Given the description of an element on the screen output the (x, y) to click on. 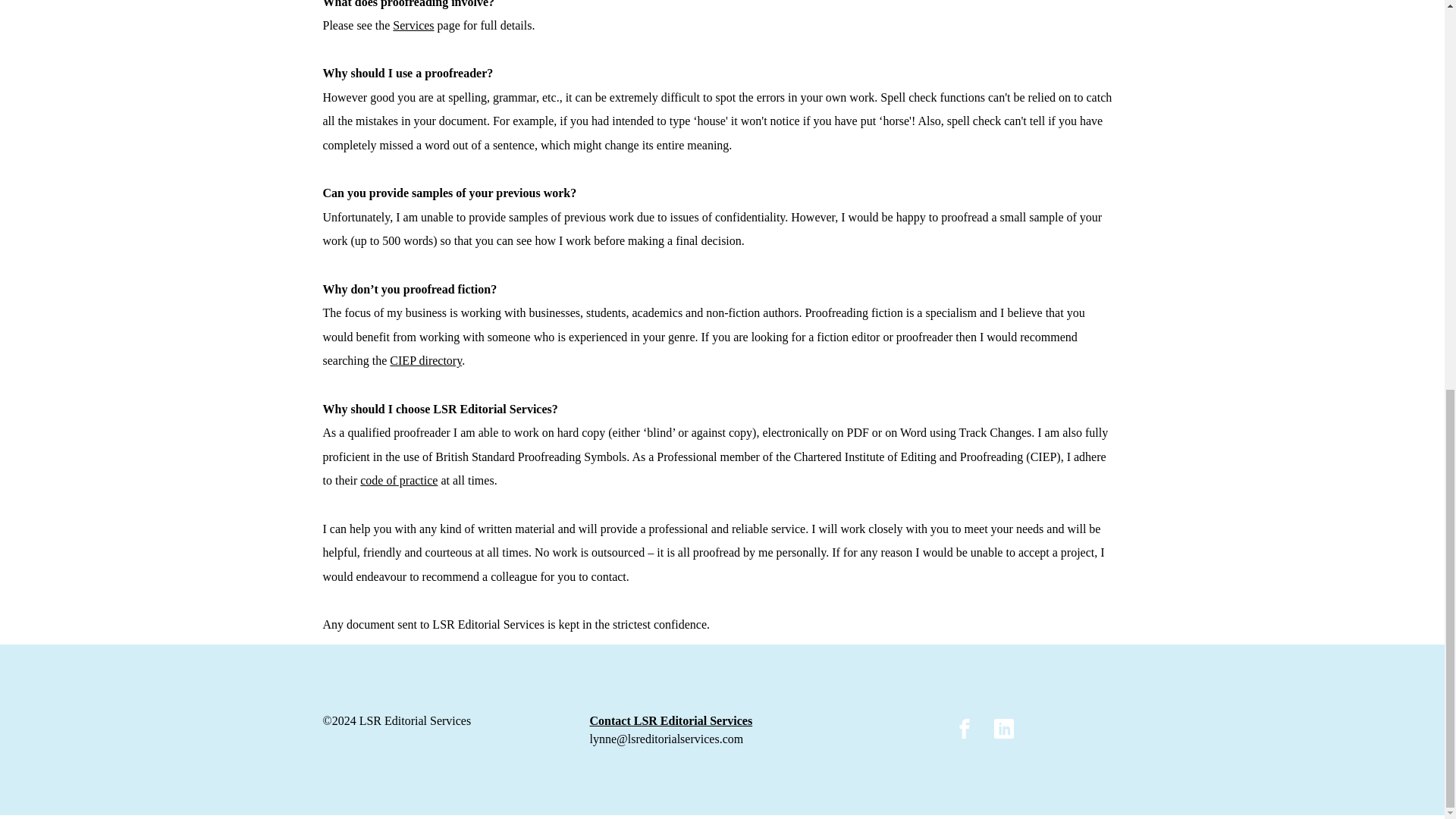
Services (413, 24)
CIEP directory (425, 359)
Contact LSR Editorial Services (670, 722)
code of practice (398, 480)
